Given the description of an element on the screen output the (x, y) to click on. 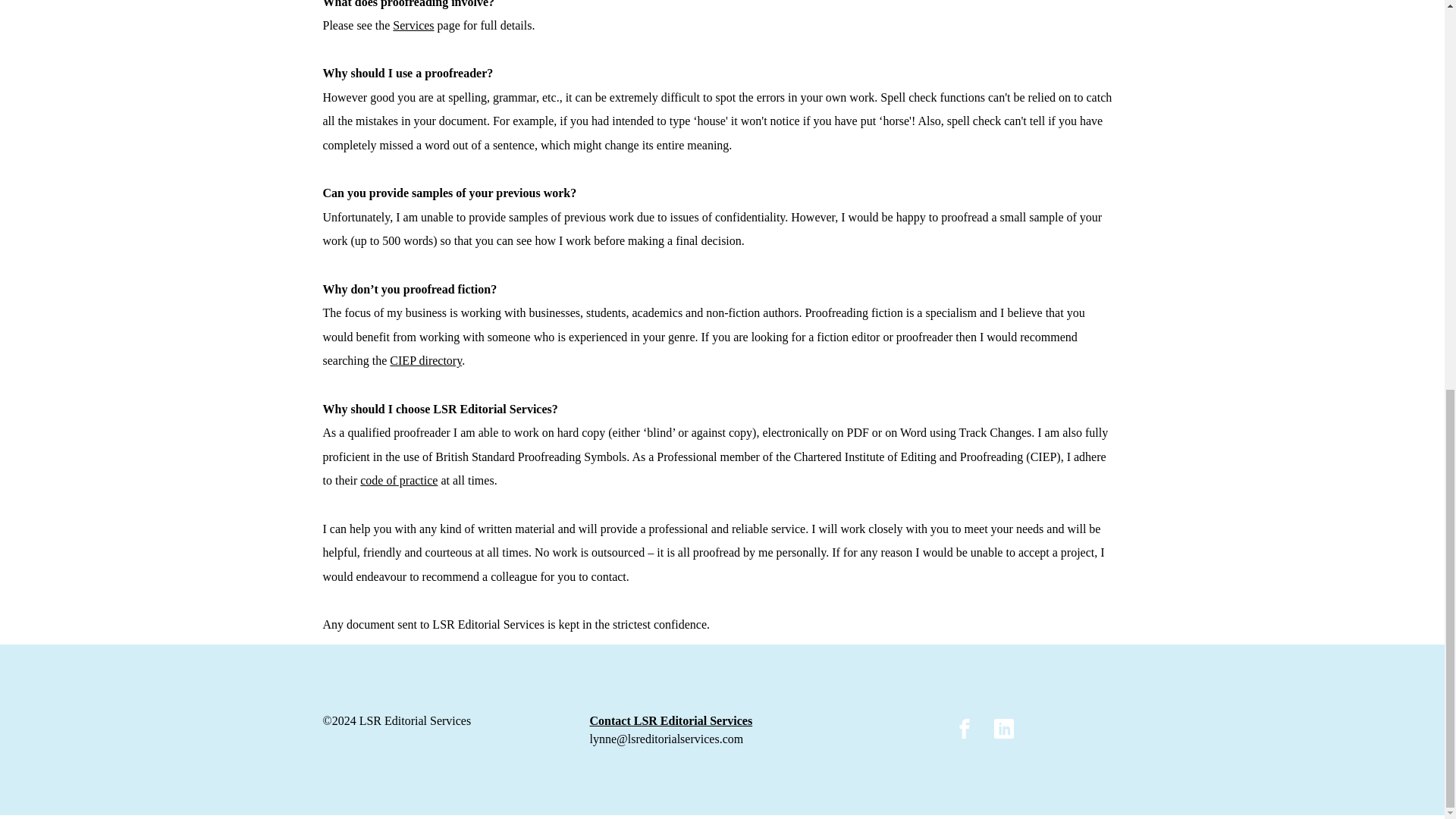
Services (413, 24)
CIEP directory (425, 359)
Contact LSR Editorial Services (670, 722)
code of practice (398, 480)
